Given the description of an element on the screen output the (x, y) to click on. 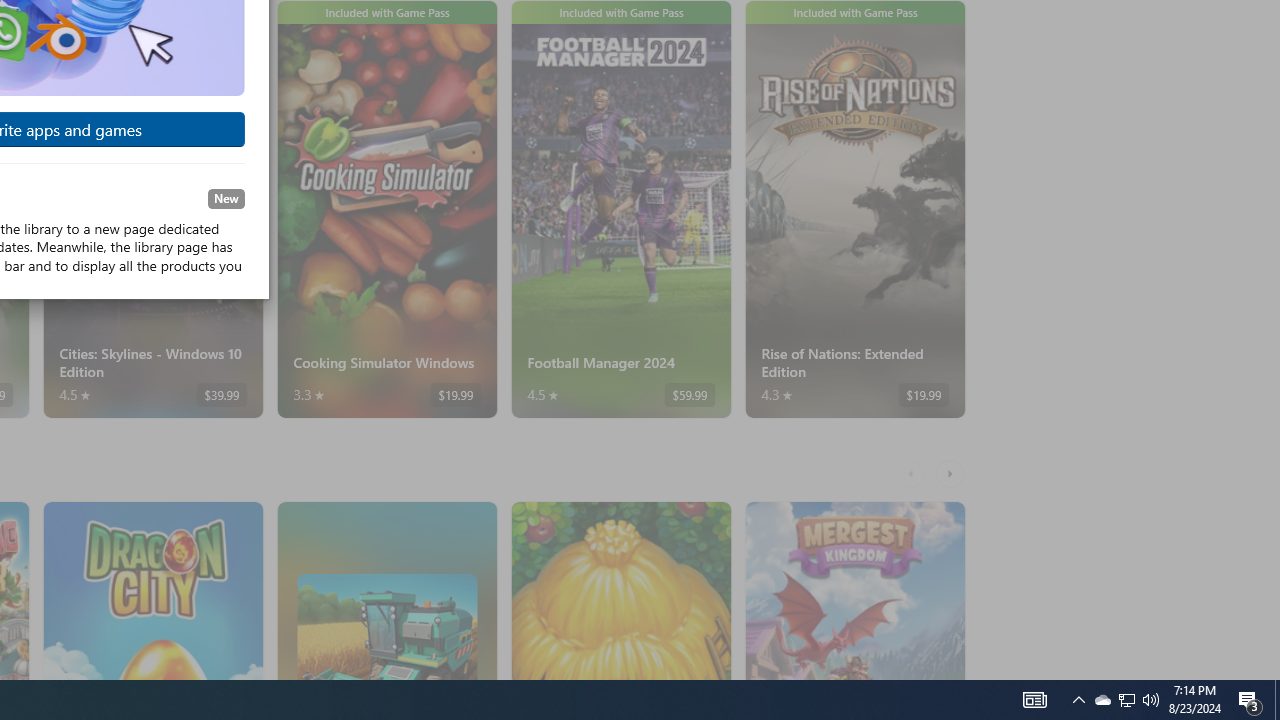
Dragon City. Average rating of 4.5 out of five stars. Free   (152, 590)
The Tribez. Average rating of 4.6 out of five stars. Free   (620, 590)
AutomationID: RightScrollButton (952, 473)
AutomationID: LeftScrollButton (913, 473)
